Given the description of an element on the screen output the (x, y) to click on. 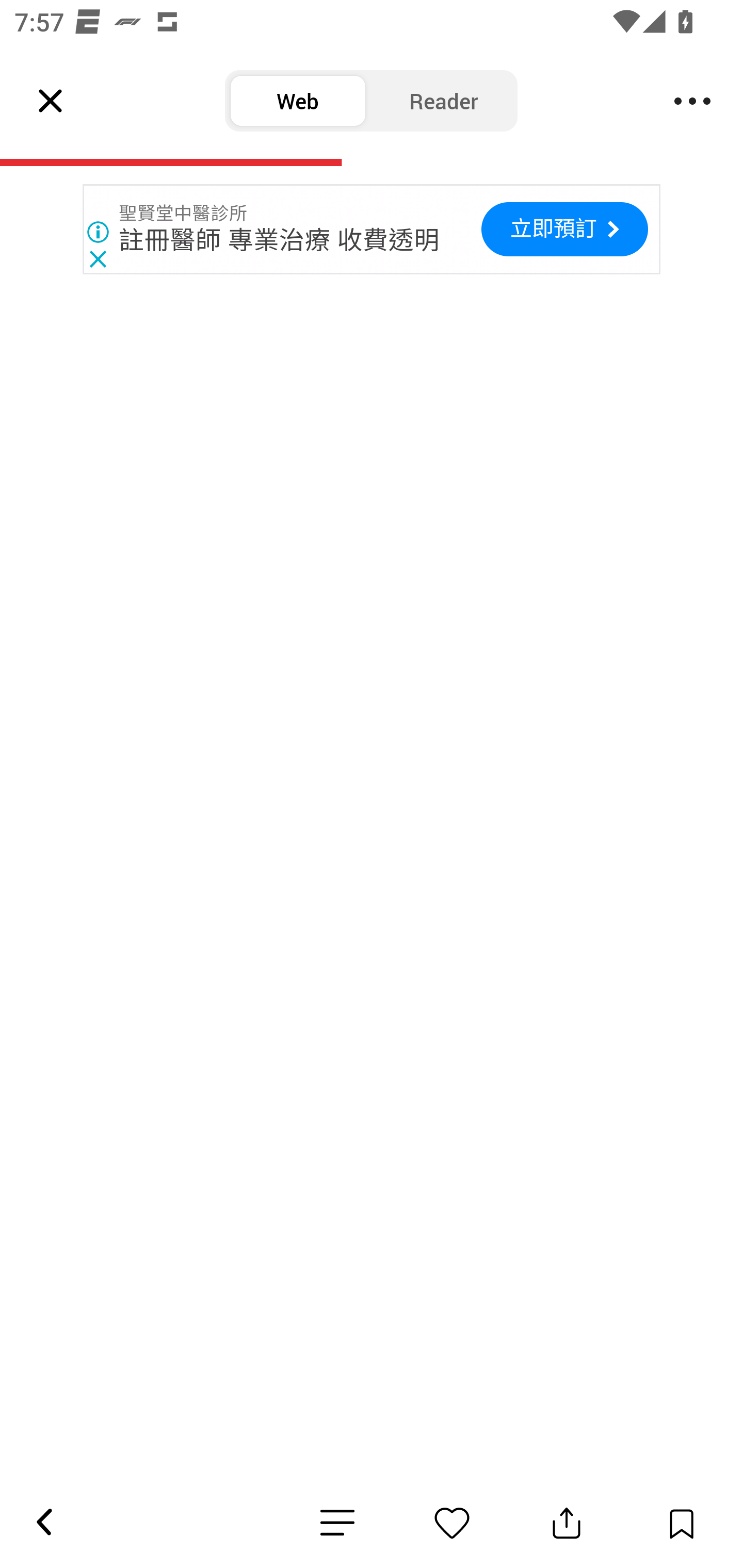
Leading Icon (50, 101)
Reader (443, 101)
Menu (692, 101)
聖賢堂中醫診所 (183, 213)
立即預訂 (564, 228)
註冊醫師 專業治療 收費透明 (279, 239)
Back Button (43, 1523)
News Detail Emotion (451, 1523)
Share Button (566, 1523)
Save Button (680, 1523)
News Detail Emotion (337, 1523)
